Given the description of an element on the screen output the (x, y) to click on. 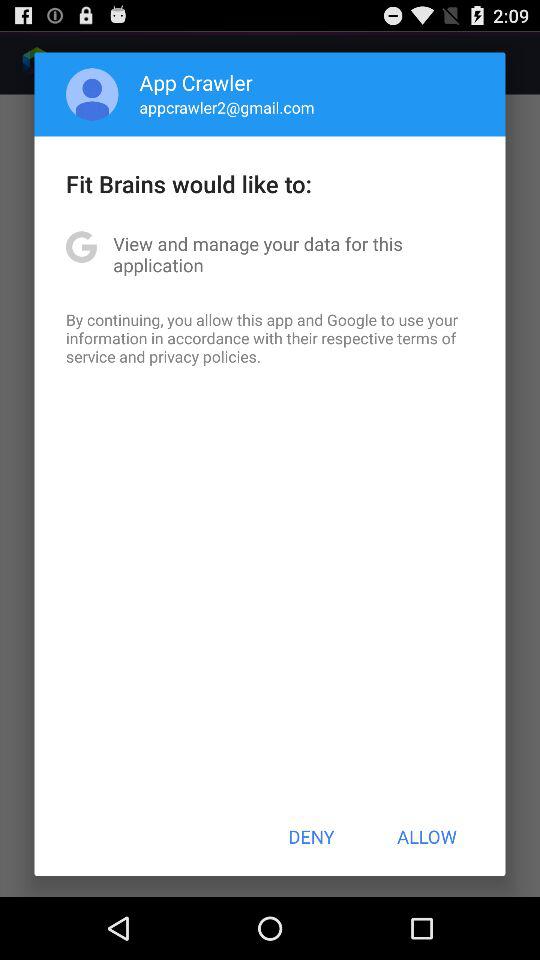
tap the view and manage icon (269, 254)
